Given the description of an element on the screen output the (x, y) to click on. 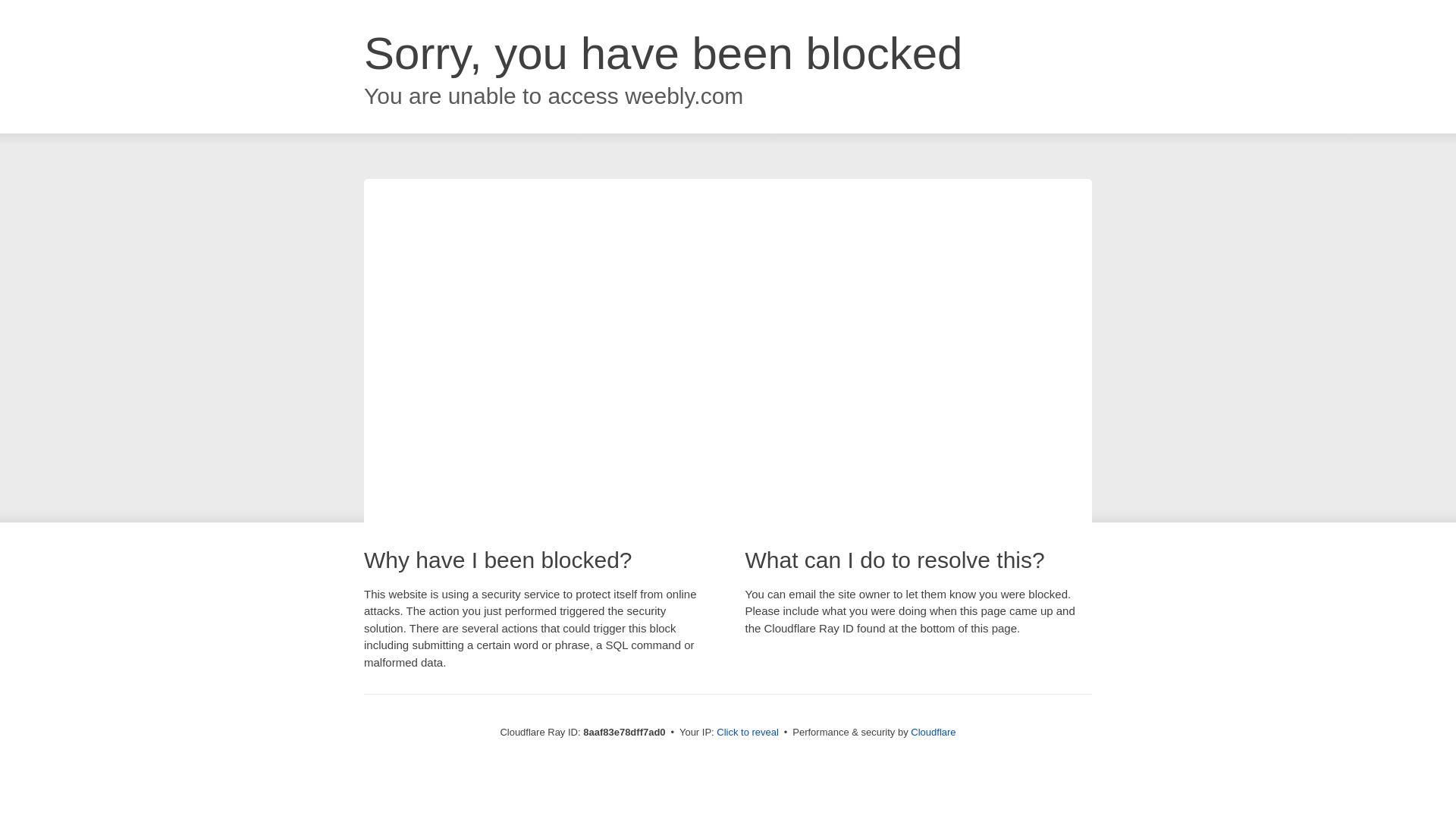
Click to reveal (747, 732)
Cloudflare (933, 731)
